Given the description of an element on the screen output the (x, y) to click on. 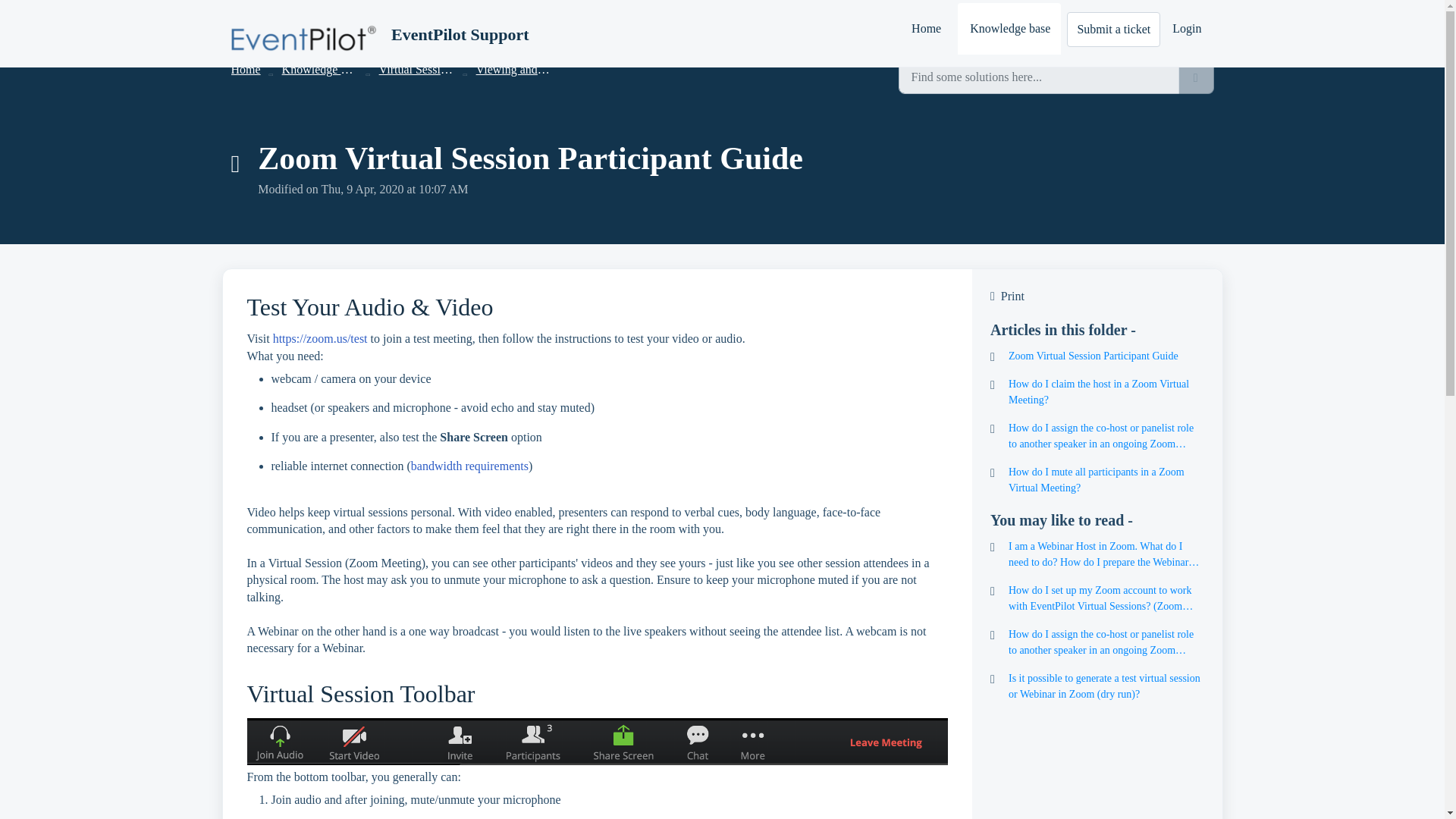
Home (925, 28)
How do I claim the host in a Zoom Virtual Meeting? (1097, 391)
Knowledge base (1009, 28)
Submit a ticket (1113, 29)
bandwidth requirements (469, 465)
EventPilot Support (460, 35)
Home (245, 69)
Print (1097, 296)
EventPilot Support (379, 34)
Zoom Virtual Session Participant Guide (1097, 355)
